Given the description of an element on the screen output the (x, y) to click on. 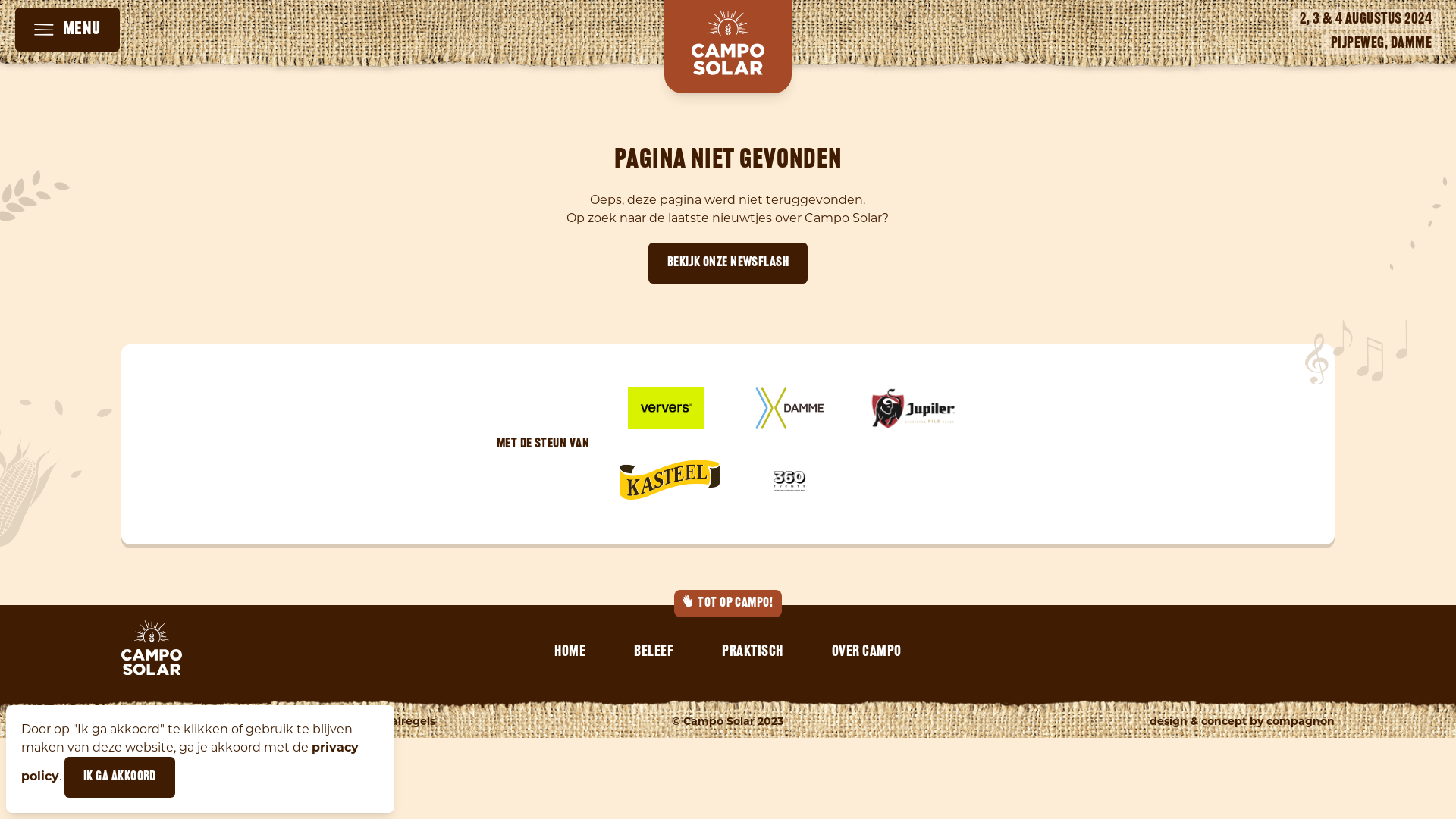
BELEEF Element type: text (653, 651)
BEKIJK ONZE NEWSFLASH Element type: text (727, 262)
MENU Element type: text (67, 29)
IK GA AKKOORD Element type: text (119, 776)
Algemene Voorwaarden Element type: text (189, 722)
HOME Element type: text (569, 651)
compagnon Element type: text (1300, 722)
Festivalregels Element type: text (396, 722)
PRAKTISCH Element type: text (752, 651)
PIJPEWEG, DAMME Element type: text (1380, 43)
OVER CAMPO Element type: text (866, 651)
privacy policy Element type: text (189, 761)
Privacy Element type: text (308, 722)
